Given the description of an element on the screen output the (x, y) to click on. 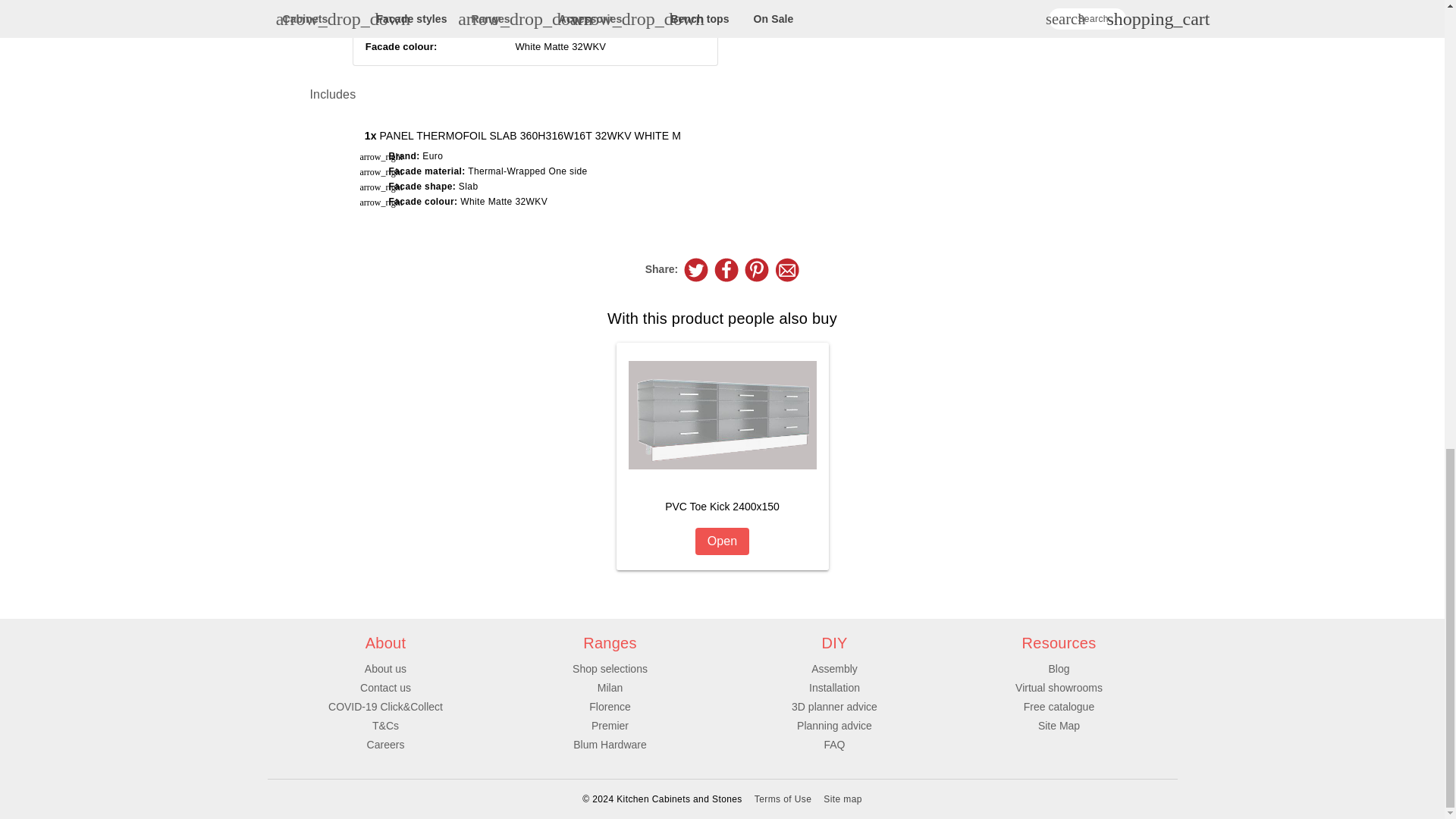
About us (721, 456)
Click and Collect instructions (385, 668)
About us (385, 706)
Terms and Conditions (385, 668)
Share with friends on Facebook (385, 725)
Blum Hardware (726, 269)
Share with followers on Twitter (609, 744)
Careers (695, 269)
Contact us page (385, 744)
Milan (384, 687)
Florence (609, 687)
Contact us (609, 706)
Add to your board on Pinterest (384, 687)
View our show selections made by customers and staff (756, 269)
